Given the description of an element on the screen output the (x, y) to click on. 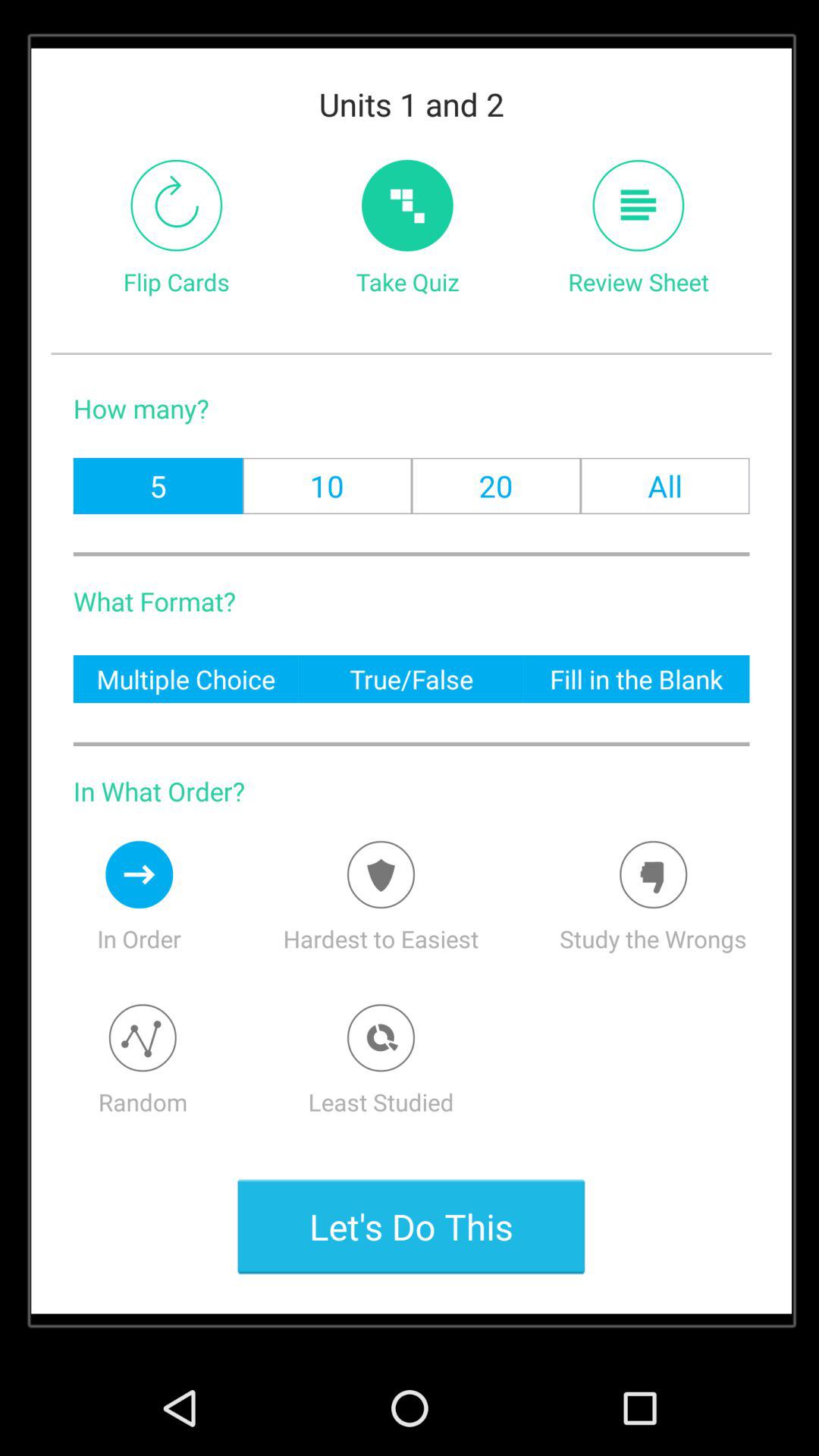
take quiz (407, 205)
